Given the description of an element on the screen output the (x, y) to click on. 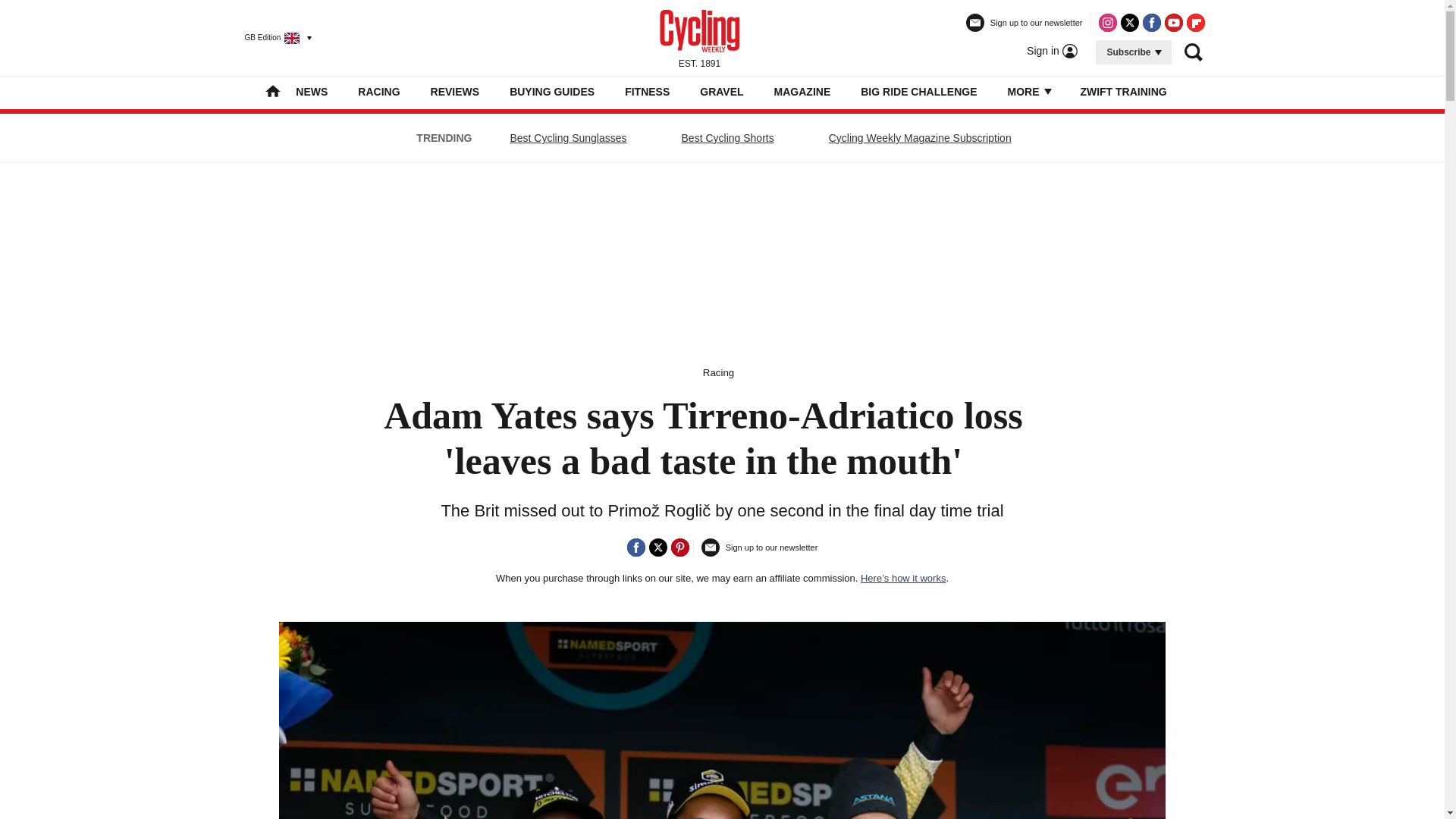
Sign up to our newsletter (1024, 28)
BIG RIDE CHALLENGE (918, 91)
GB Edition (271, 37)
NEWS (311, 91)
FITNESS (646, 91)
Racing (719, 372)
RACING (378, 91)
BUYING GUIDES (551, 91)
Best Cycling Sunglasses (567, 137)
Cycling Weekly Magazine Subscription (920, 137)
